Given the description of an element on the screen output the (x, y) to click on. 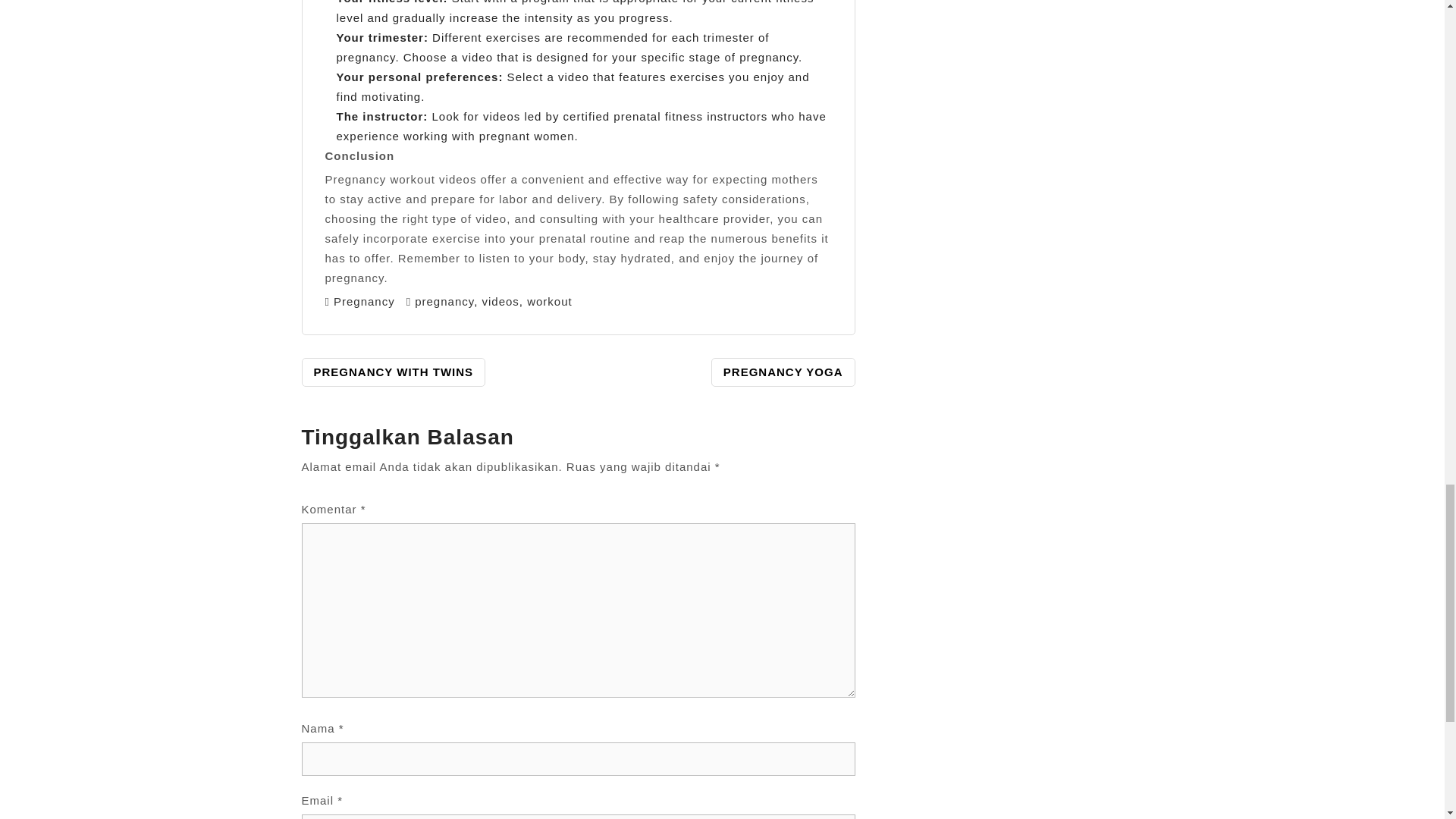
videos (499, 300)
workout (549, 300)
pregnancy (444, 300)
PREGNANCY WITH TWINS (393, 371)
Pregnancy (363, 300)
PREGNANCY YOGA (783, 371)
